Given the description of an element on the screen output the (x, y) to click on. 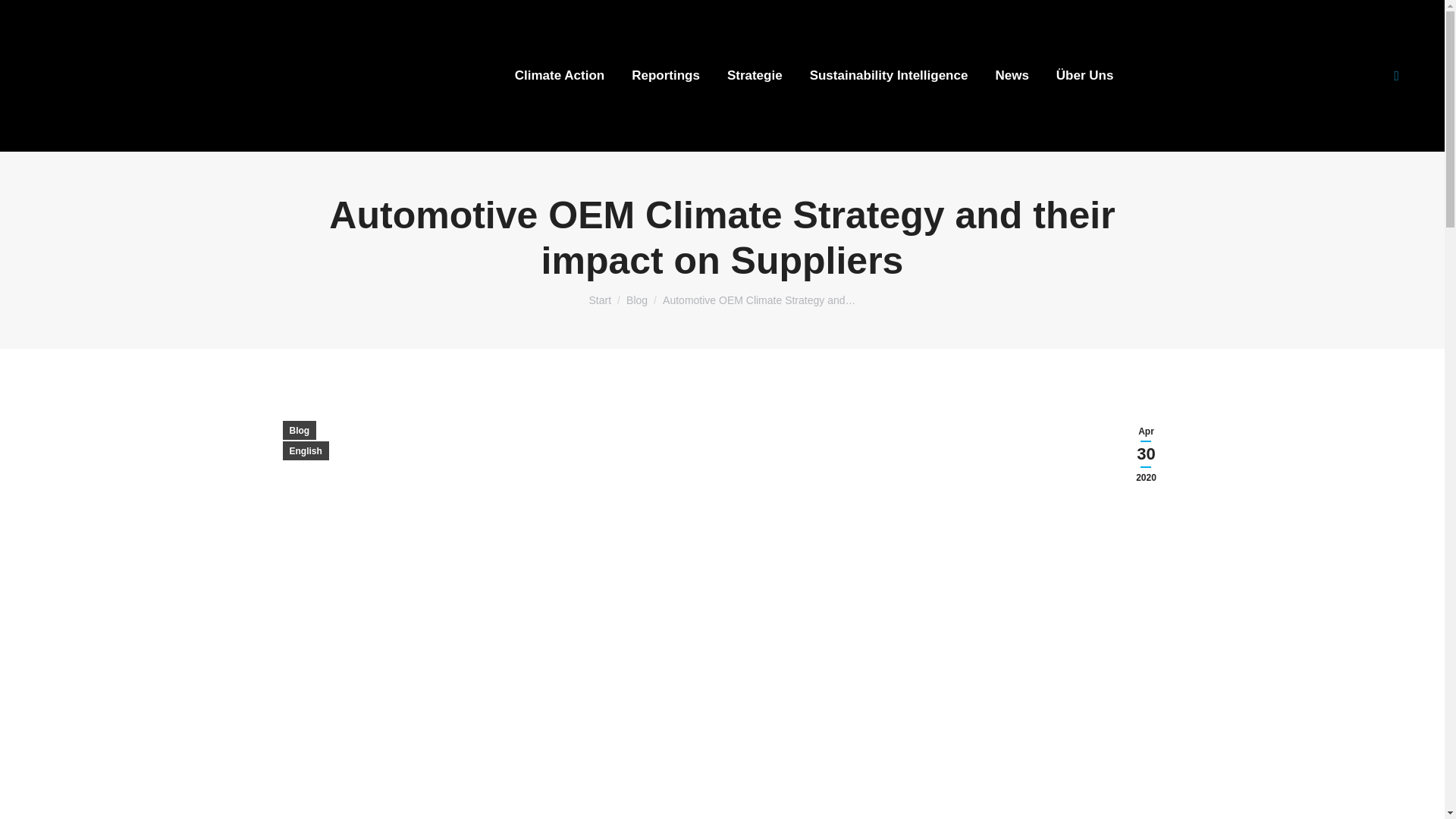
Start (599, 300)
Sustainability Intelligence (888, 75)
Climate Action (559, 75)
Reportings (665, 75)
Strategie (754, 75)
Blog (636, 300)
